Given the description of an element on the screen output the (x, y) to click on. 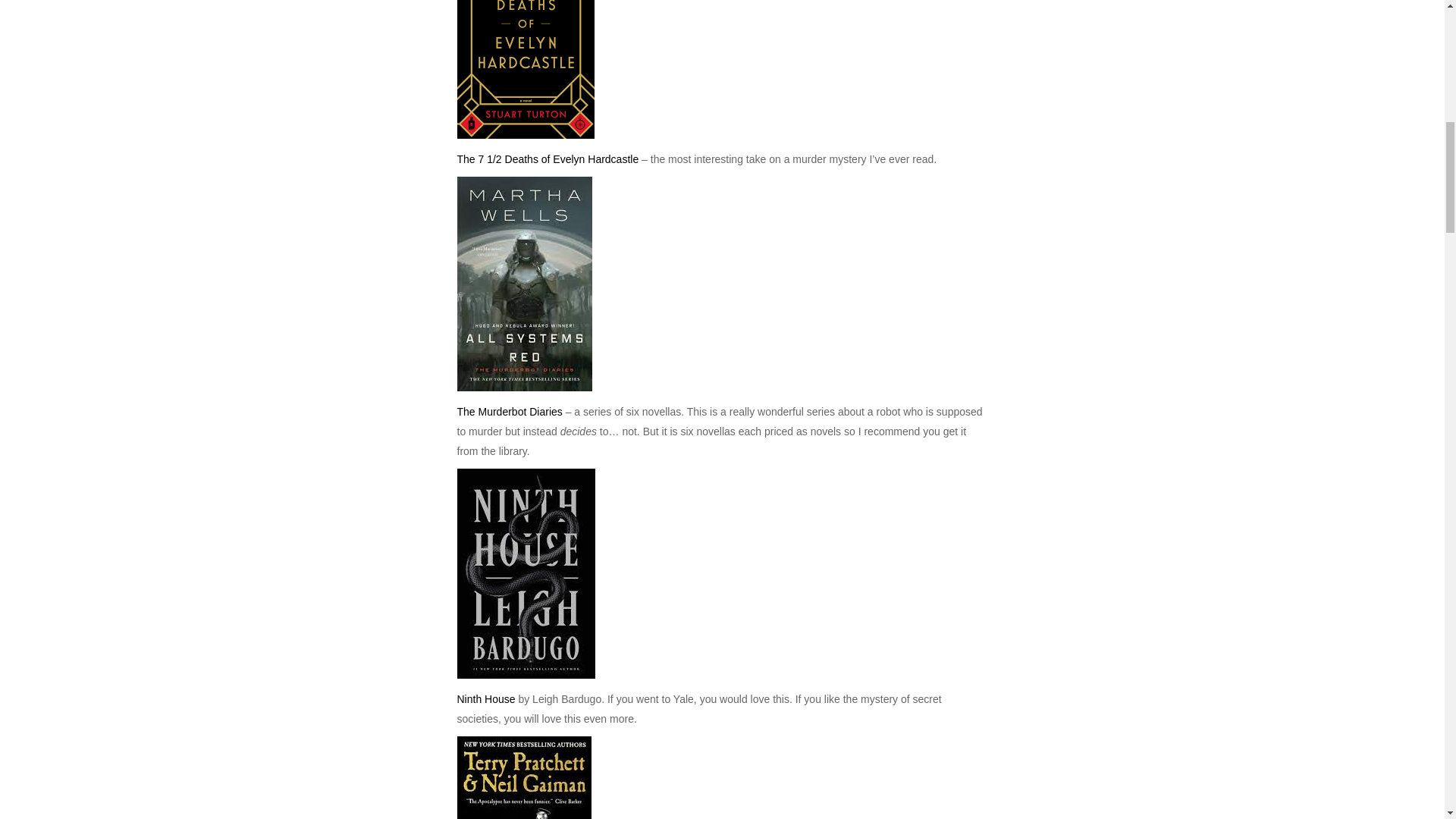
Ninth House (486, 698)
The Murderbot Diaries (510, 411)
